Given the description of an element on the screen output the (x, y) to click on. 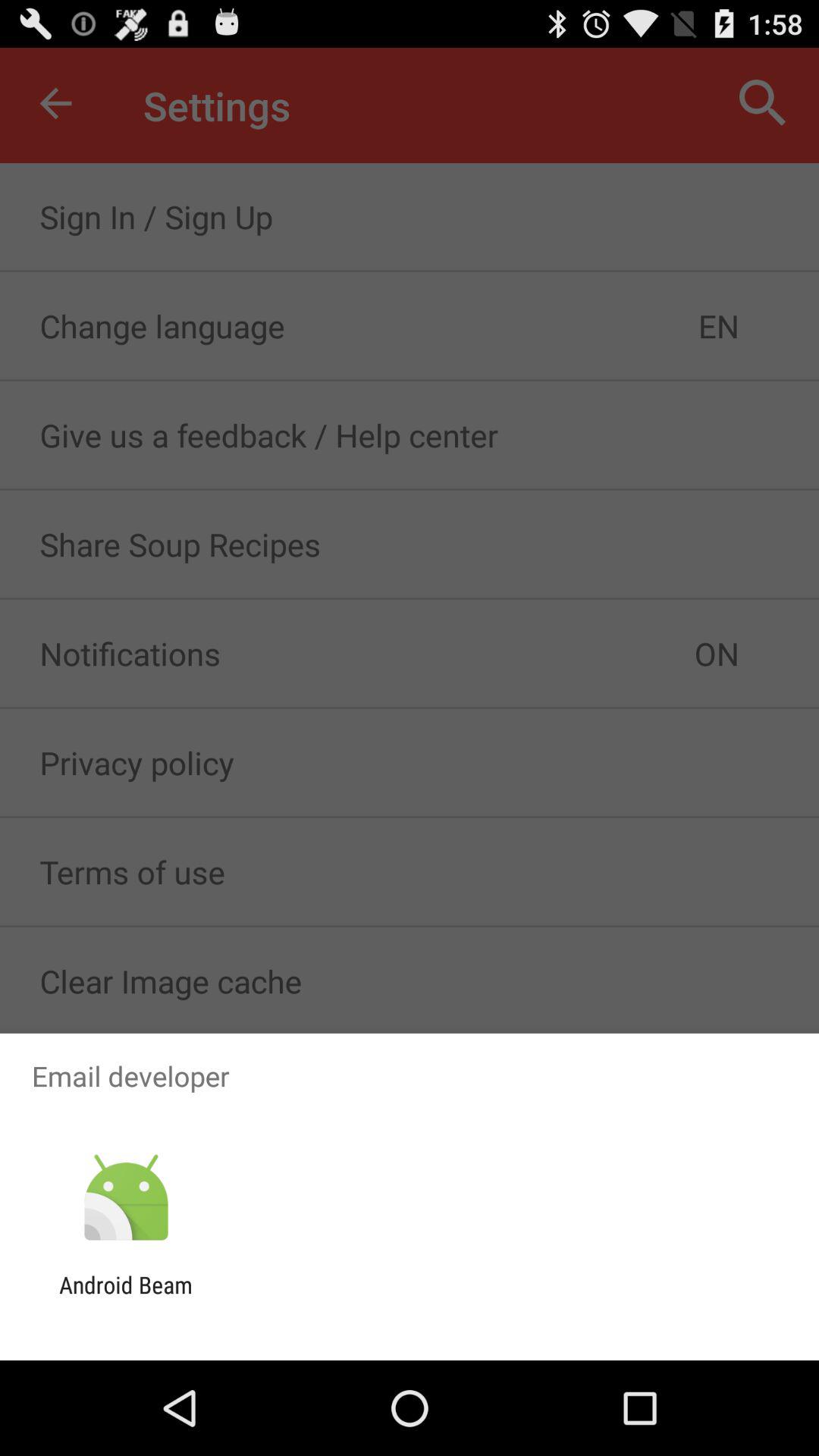
press item below the email developer item (126, 1198)
